Given the description of an element on the screen output the (x, y) to click on. 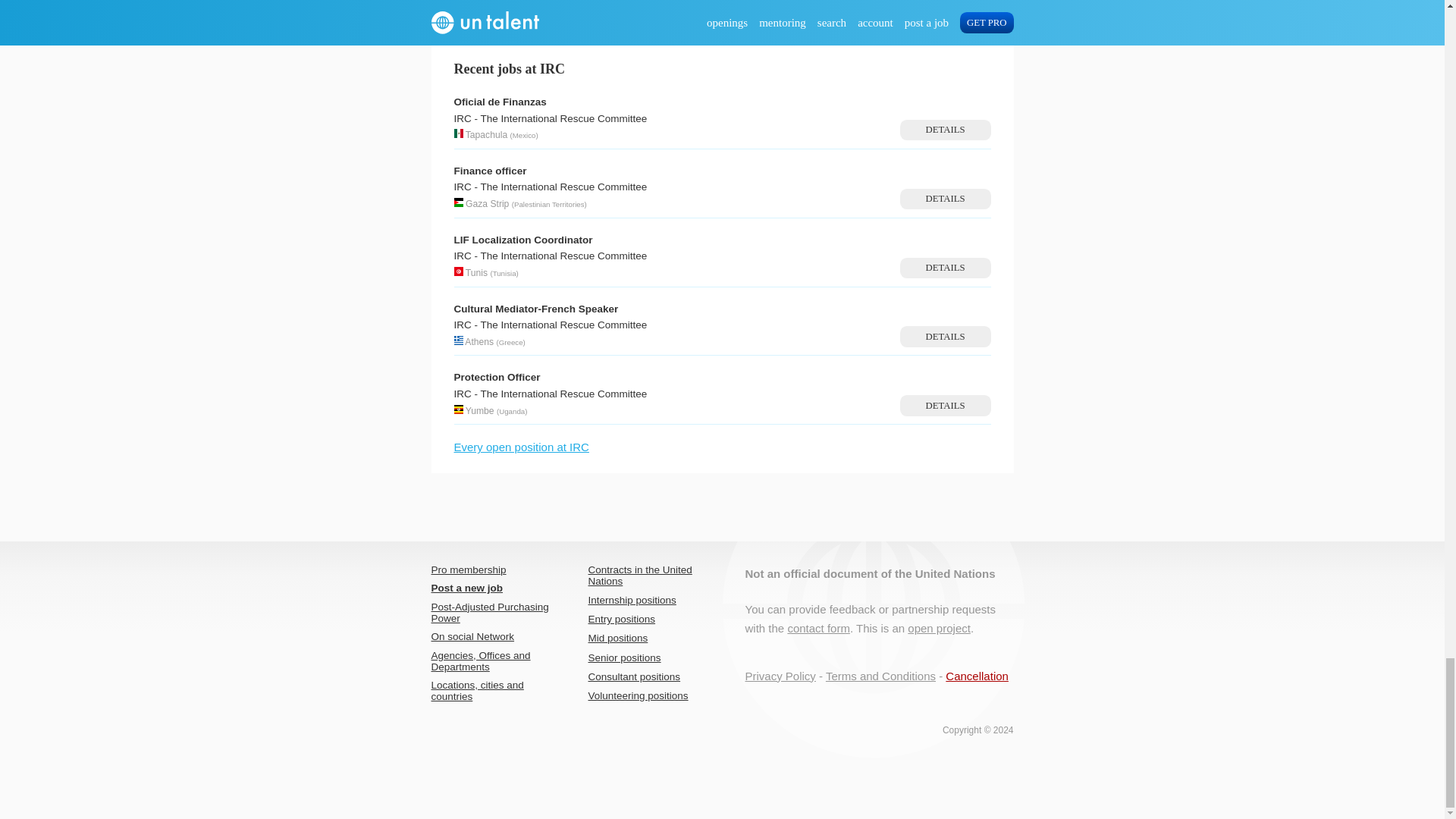
Tunis (476, 272)
rescue.org (763, 1)
DETAILS (944, 199)
Uganda (511, 411)
Yumbe (480, 410)
Athens (478, 341)
LIF Localization Coordinator (522, 239)
Tunisia (504, 273)
IRC - The International Rescue Committee (549, 118)
Mexico (523, 135)
Finance officer (488, 170)
IRC - The International Rescue Committee (549, 186)
DETAILS (944, 129)
Tapachula (485, 134)
Protection Officer (496, 377)
